Given the description of an element on the screen output the (x, y) to click on. 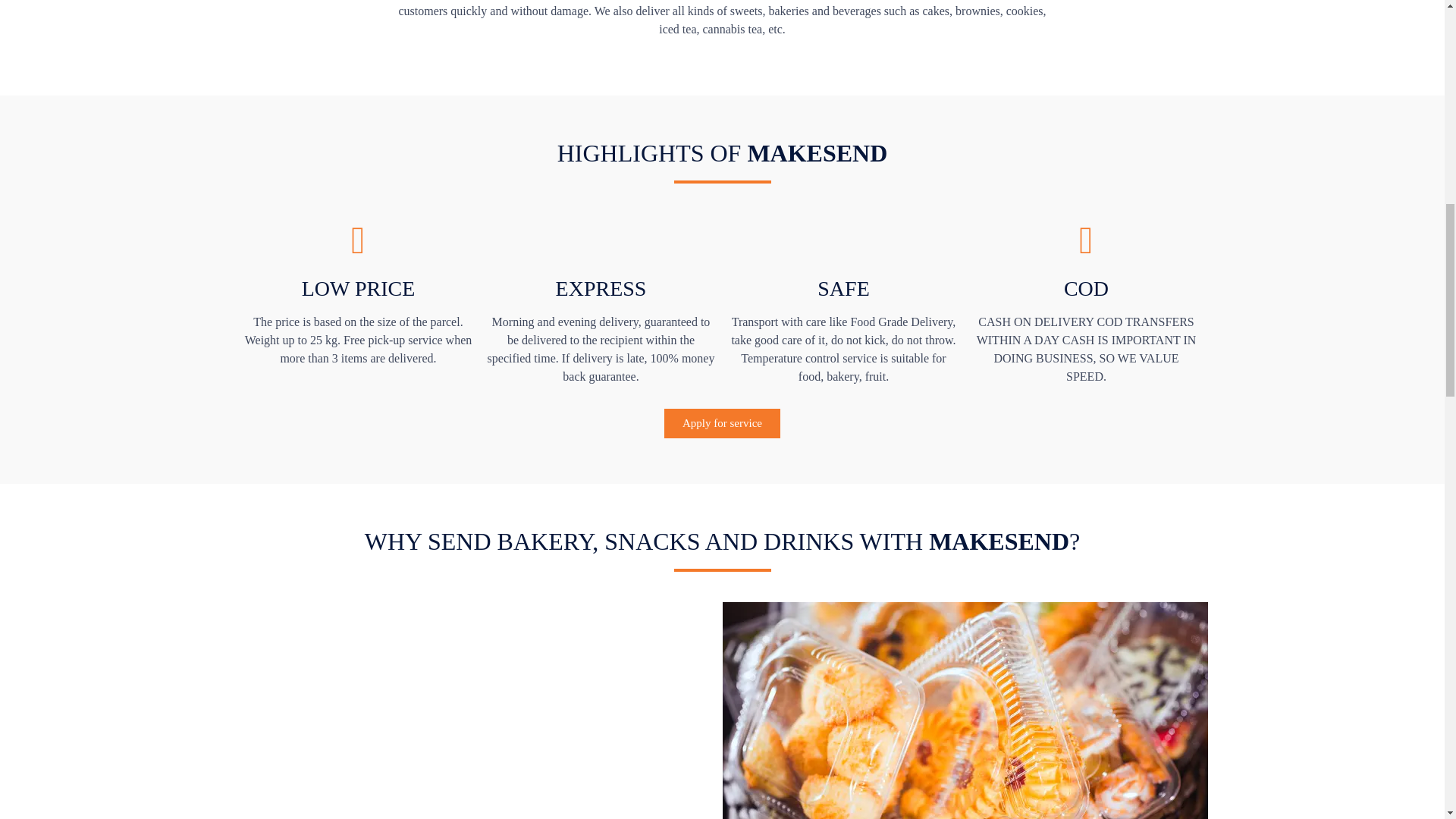
Apply for service (721, 423)
